Given the description of an element on the screen output the (x, y) to click on. 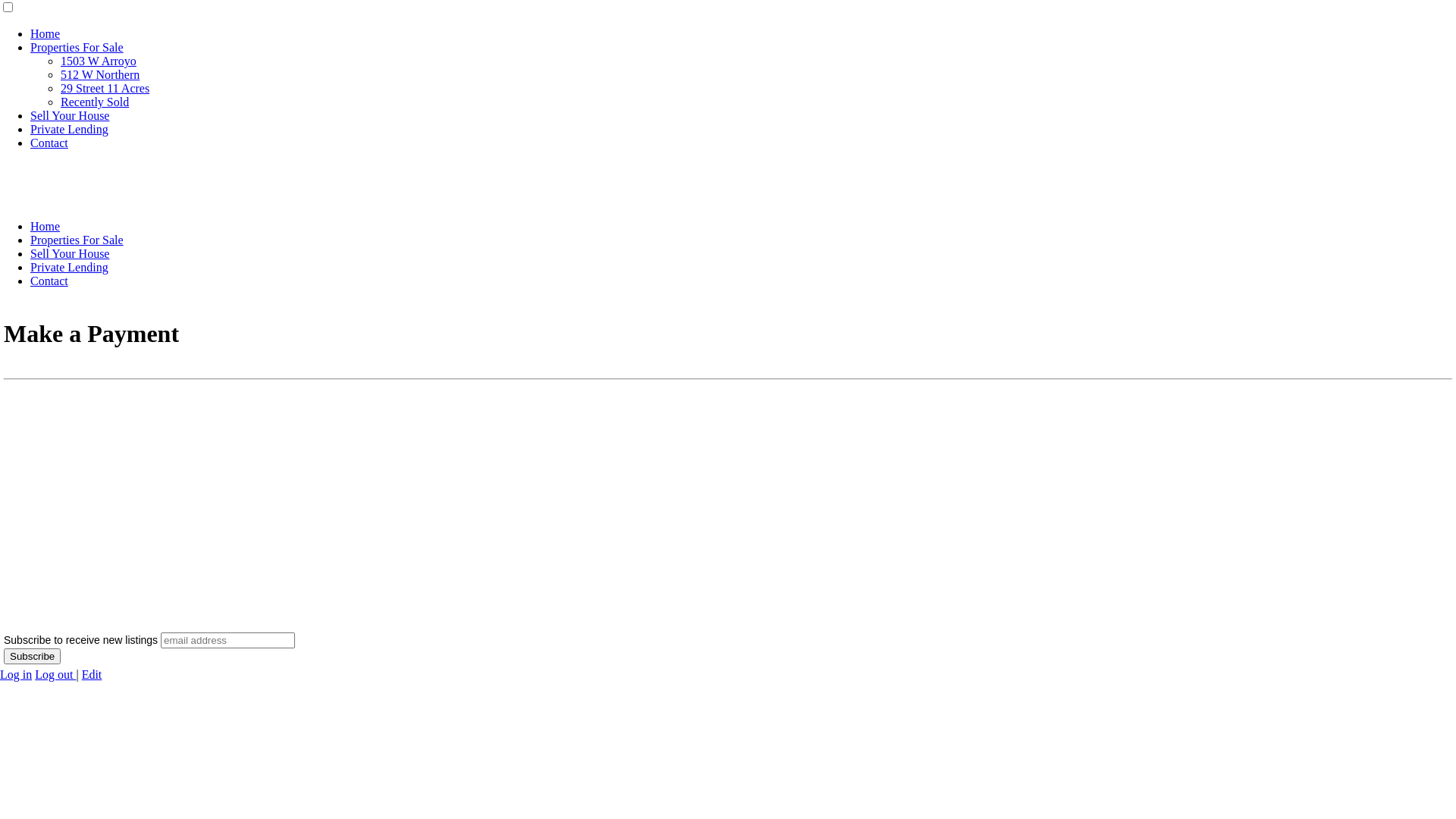
Contact Element type: text (49, 142)
Edit Element type: text (91, 674)
Home Element type: text (44, 225)
Properties For Sale Element type: text (76, 46)
Private Lending Element type: text (69, 266)
Home Element type: text (44, 33)
Recently Sold Element type: text (94, 101)
Subscribe Element type: text (31, 656)
512 W Northern Element type: text (99, 74)
Sell Your House Element type: text (69, 115)
1503 W Arroyo Element type: text (98, 60)
Log in Element type: text (15, 674)
29 Street 11 Acres Element type: text (104, 87)
Log out Element type: text (54, 674)
Sell Your House Element type: text (69, 253)
Private Lending Element type: text (69, 128)
Properties For Sale Element type: text (76, 239)
Contact Element type: text (49, 280)
